Given the description of an element on the screen output the (x, y) to click on. 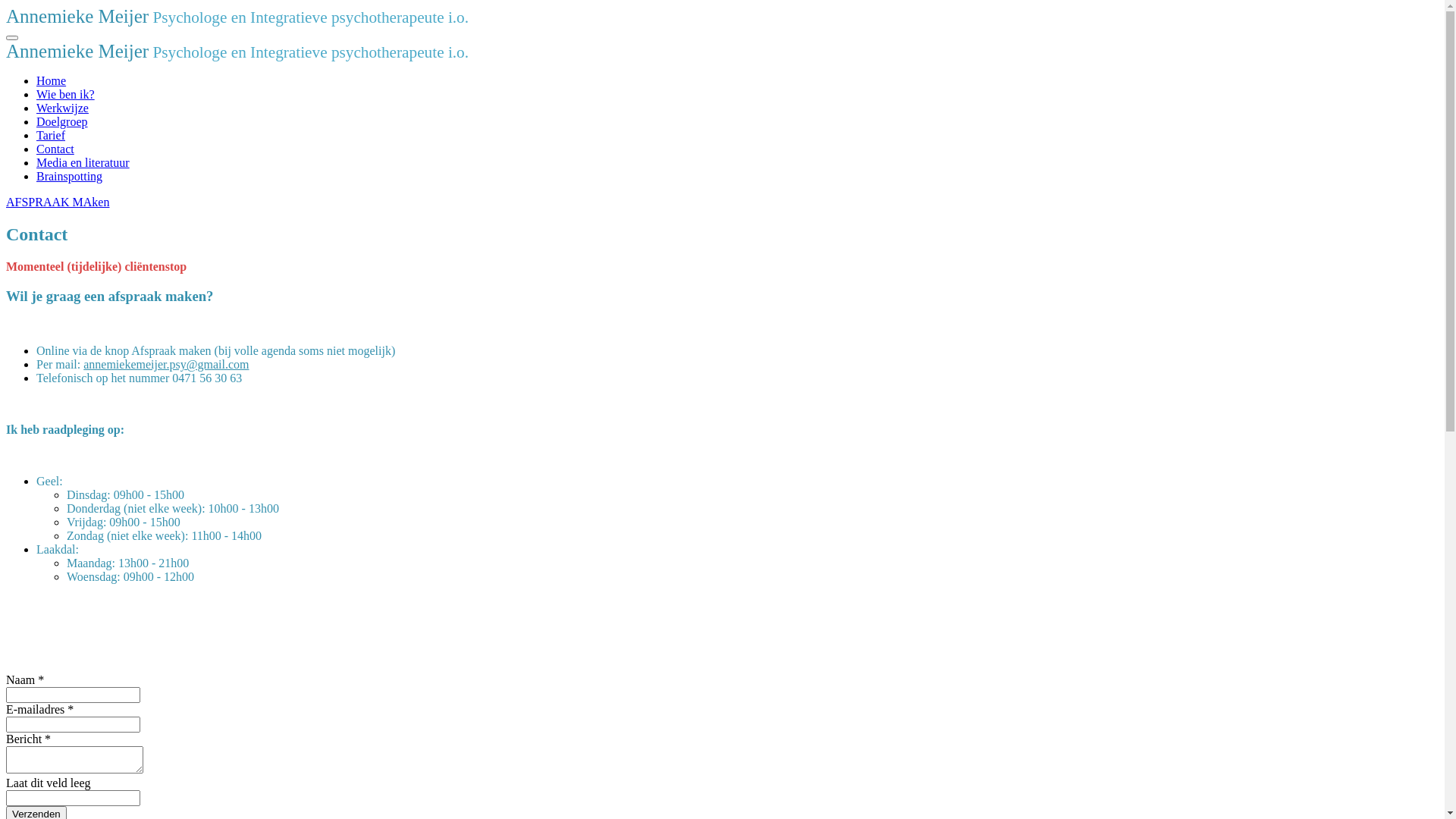
annemiekemeijer.psy@gmail.com Element type: text (165, 363)
Tarief Element type: text (50, 134)
Werkwijze Element type: text (62, 107)
AFSPRAAK MAken Element type: text (722, 202)
Wie ben ik? Element type: text (65, 93)
Brainspotting Element type: text (69, 175)
Contact Element type: text (55, 148)
Home Element type: text (50, 80)
Doelgroep Element type: text (61, 121)
Media en literatuur Element type: text (82, 162)
